Given the description of an element on the screen output the (x, y) to click on. 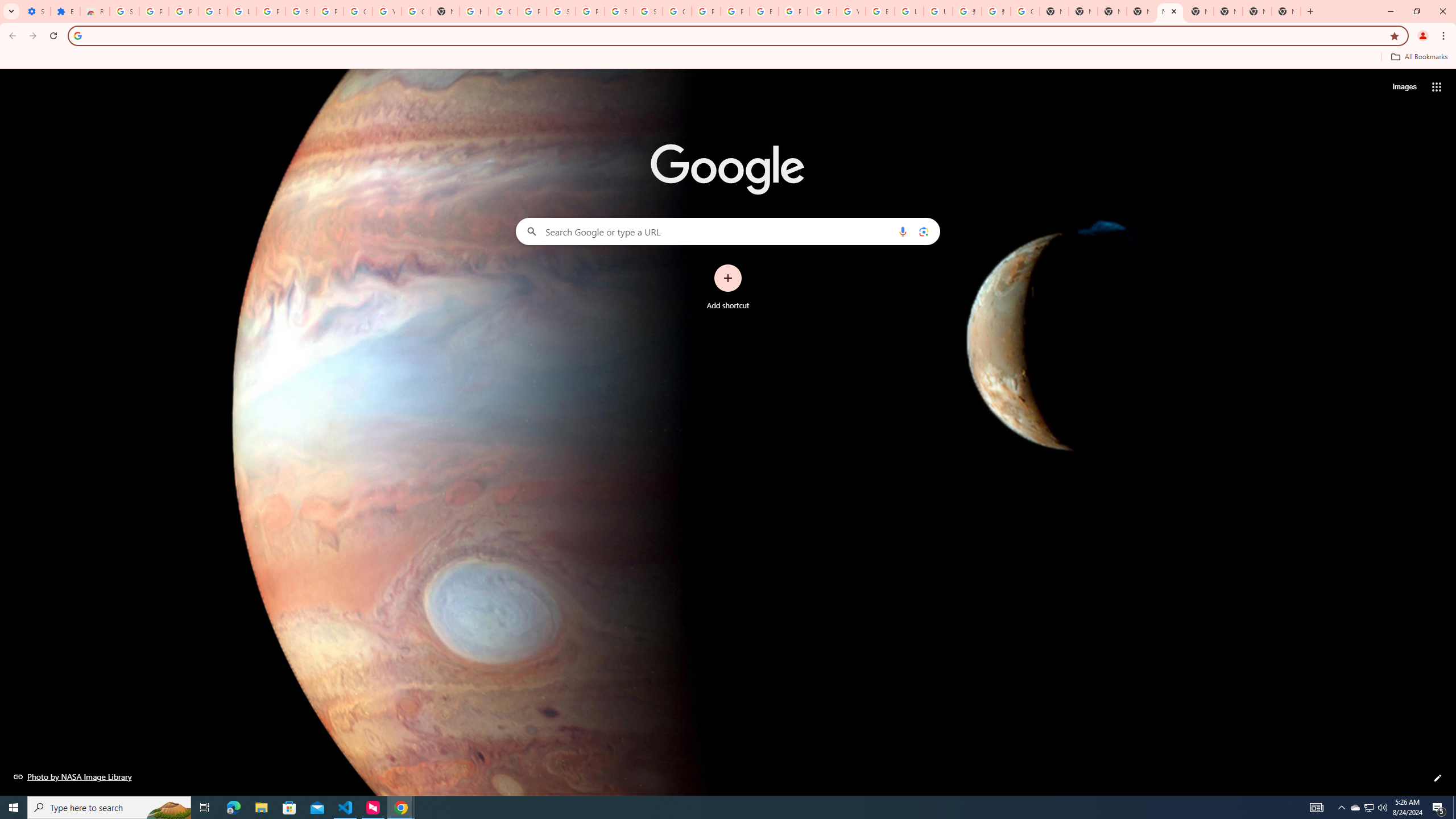
Sign in - Google Accounts (300, 11)
Privacy Help Center - Policies Help (734, 11)
Search Google or type a URL (727, 230)
Delete photos & videos - Computer - Google Photos Help (212, 11)
Google Images (1025, 11)
Customize this page (1437, 778)
